Given the description of an element on the screen output the (x, y) to click on. 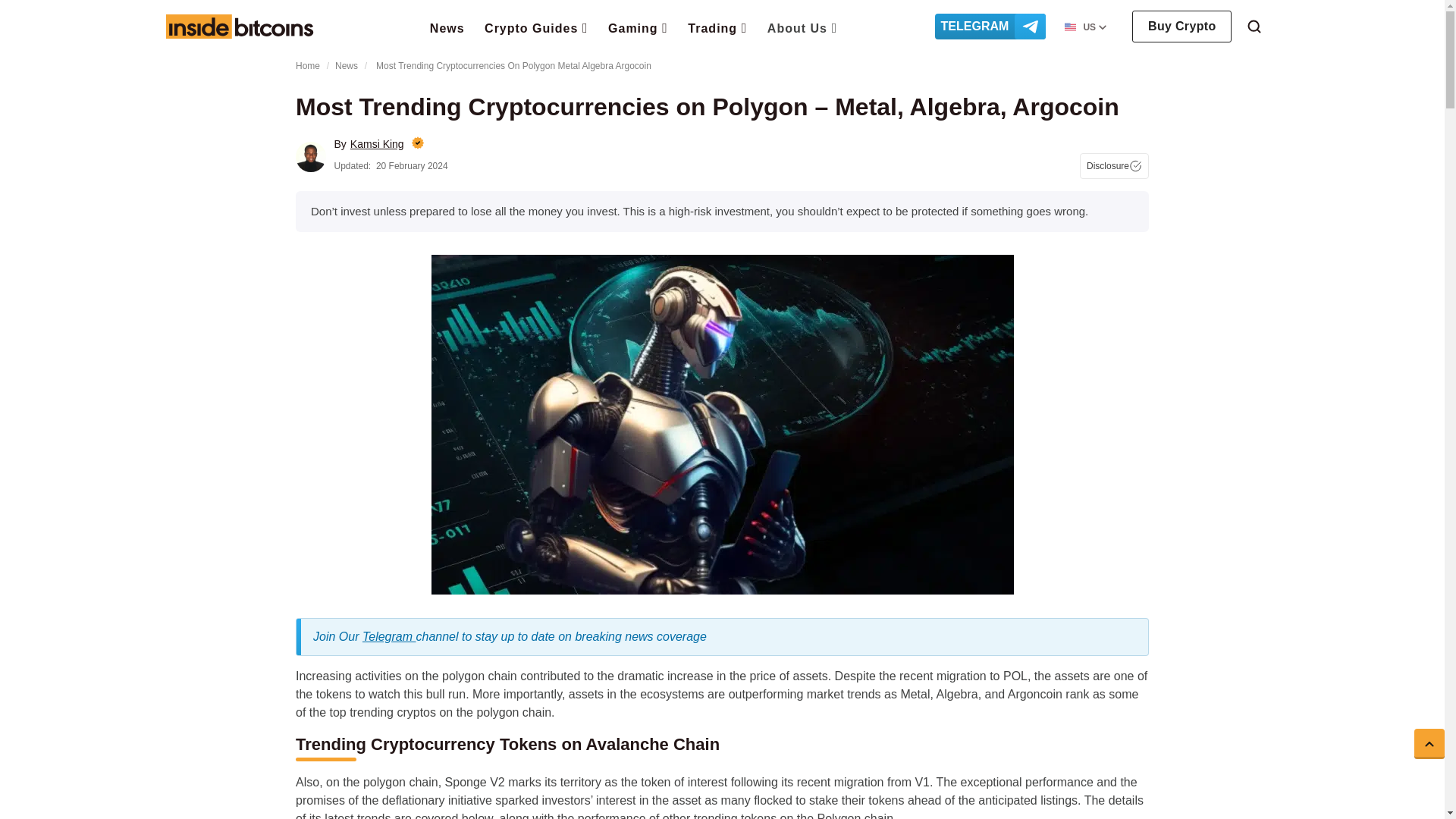
Home (239, 26)
Crypto Guides (536, 26)
